Given the description of an element on the screen output the (x, y) to click on. 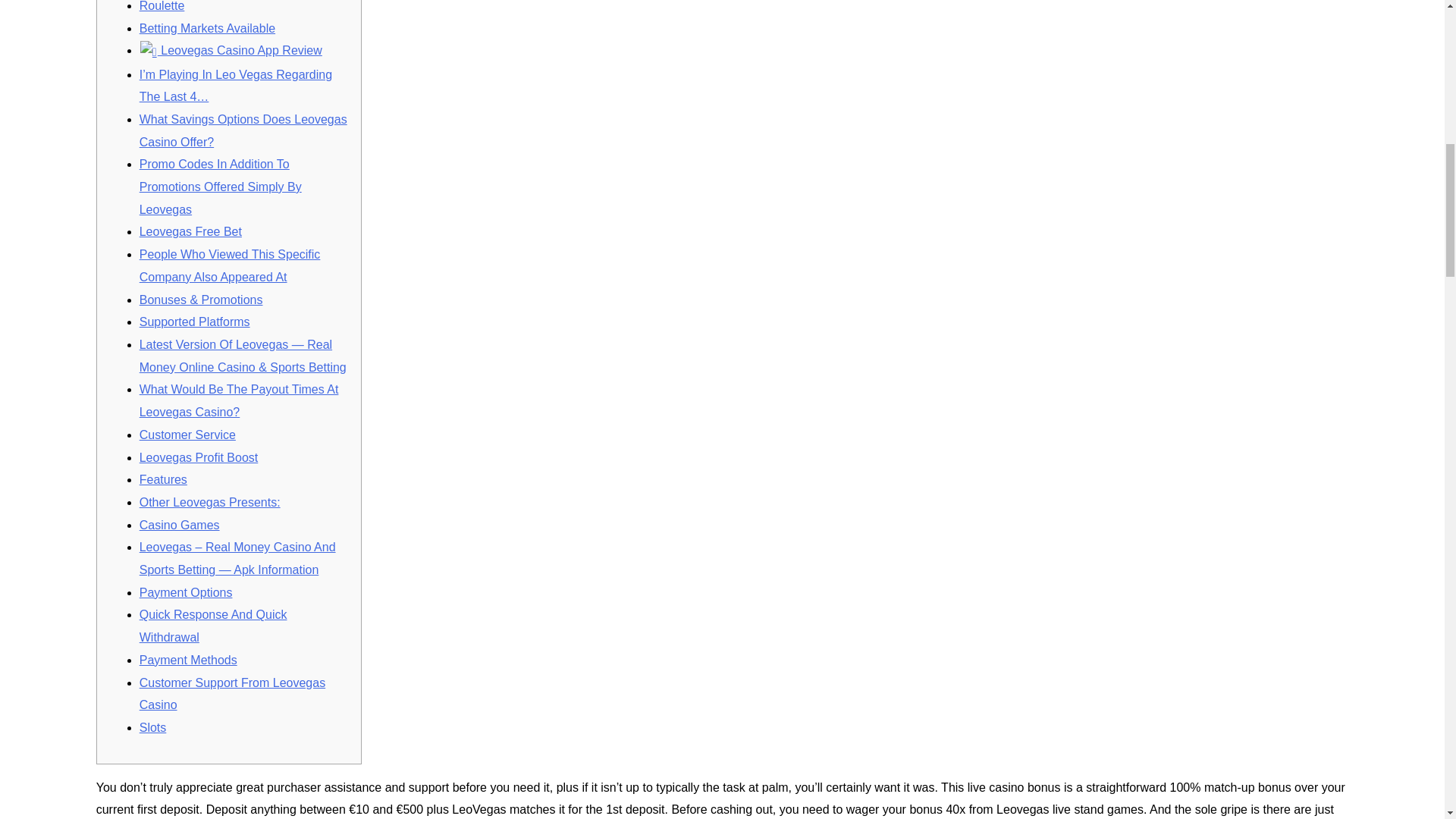
Leovegas Casino App Review (230, 50)
Supported Platforms (194, 321)
Leovegas Free Bet (190, 231)
What Would Be The Payout Times At Leovegas Casino? (239, 400)
Betting Markets Available (207, 28)
Roulette (161, 6)
People Who Viewed This Specific Company Also Appeared At (229, 265)
What Savings Options Does Leovegas Casino Offer? (243, 130)
